Given the description of an element on the screen output the (x, y) to click on. 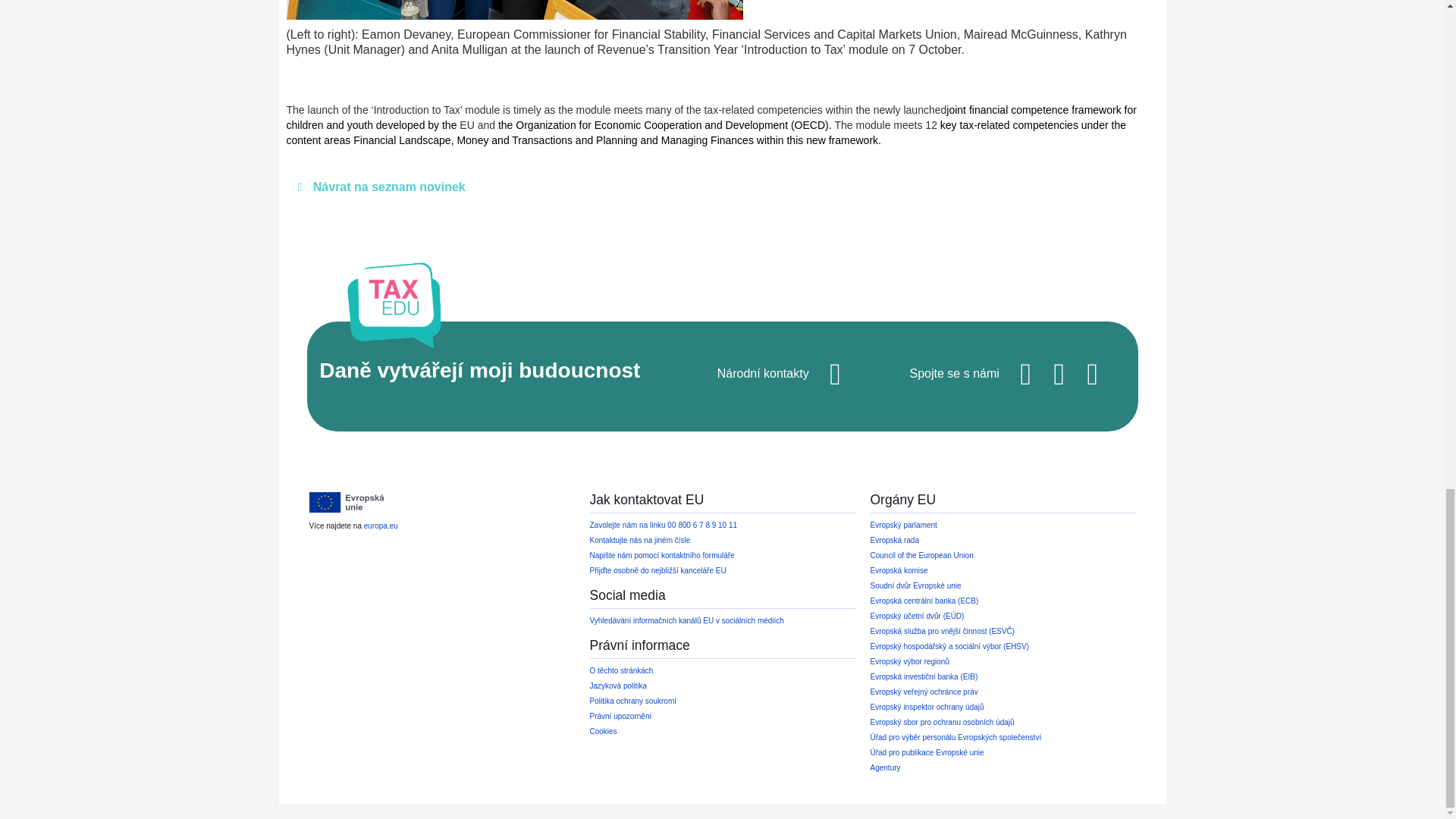
Cookies (603, 731)
European Union (346, 502)
europa.eu (380, 525)
